Given the description of an element on the screen output the (x, y) to click on. 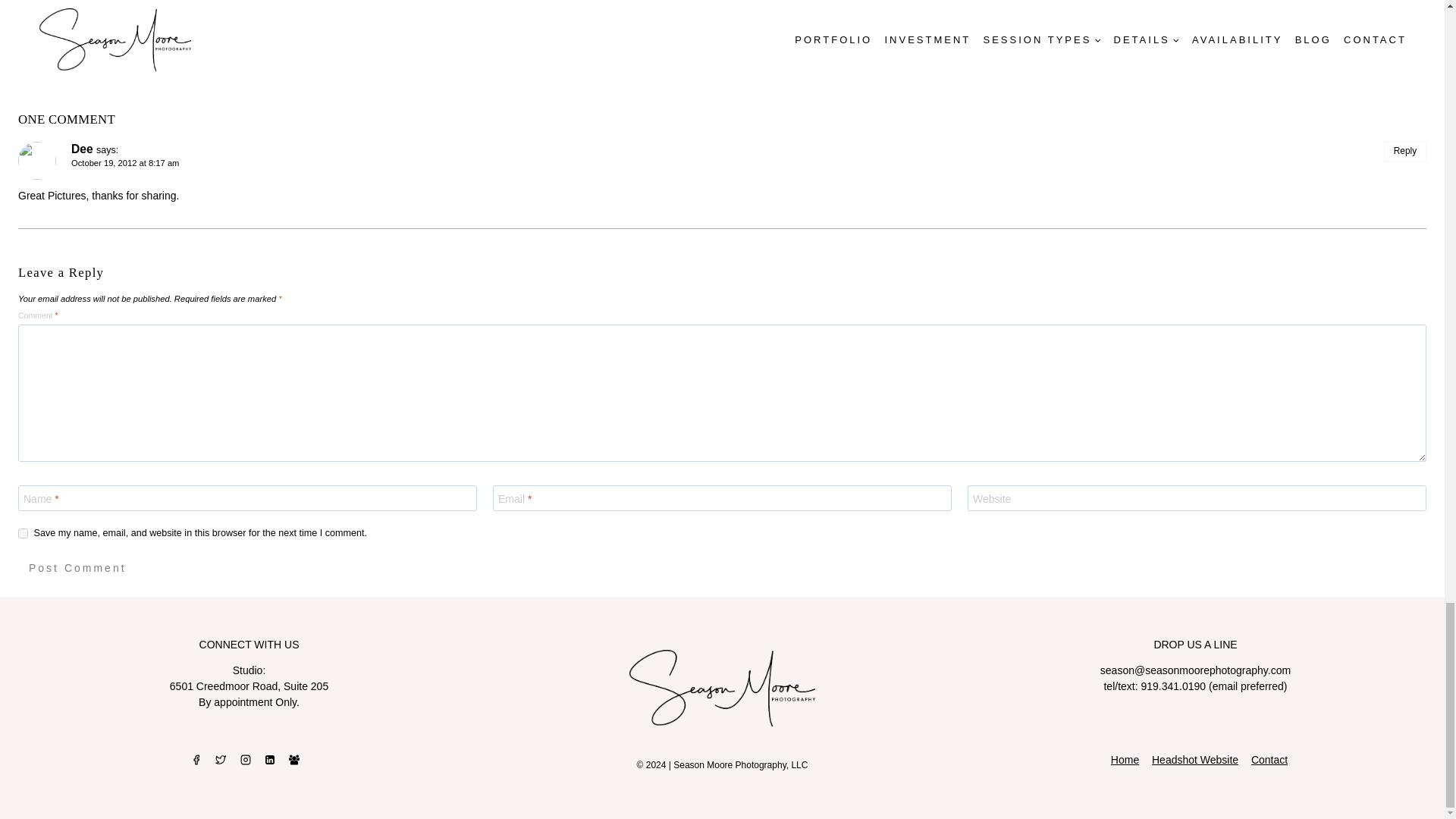
Post Comment (76, 568)
Jayasooriya037 (721, 36)
Reply (1405, 151)
yes (22, 533)
October 19, 2012 at 8:17 am (125, 162)
